Given the description of an element on the screen output the (x, y) to click on. 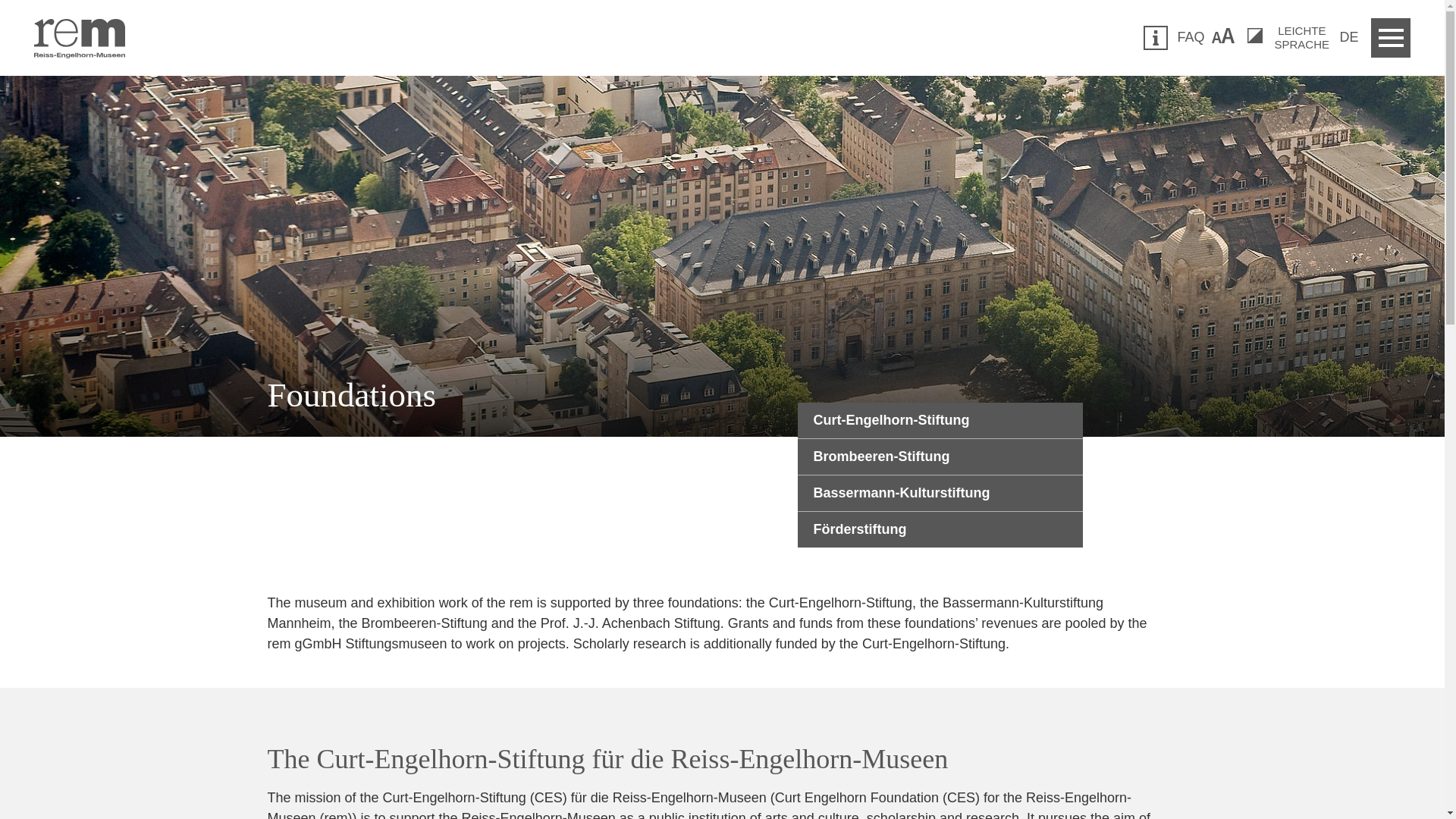
Bassermann-Kulturstiftung (940, 493)
Informationen (1154, 37)
zur Website in leichter Sprache (1302, 37)
zur Startseite (79, 38)
Curt-Engelhorn-Stiftung (1302, 37)
Brombeeren-Stiftung (940, 420)
Reiss-Engelhorn-Museen (940, 456)
